Given the description of an element on the screen output the (x, y) to click on. 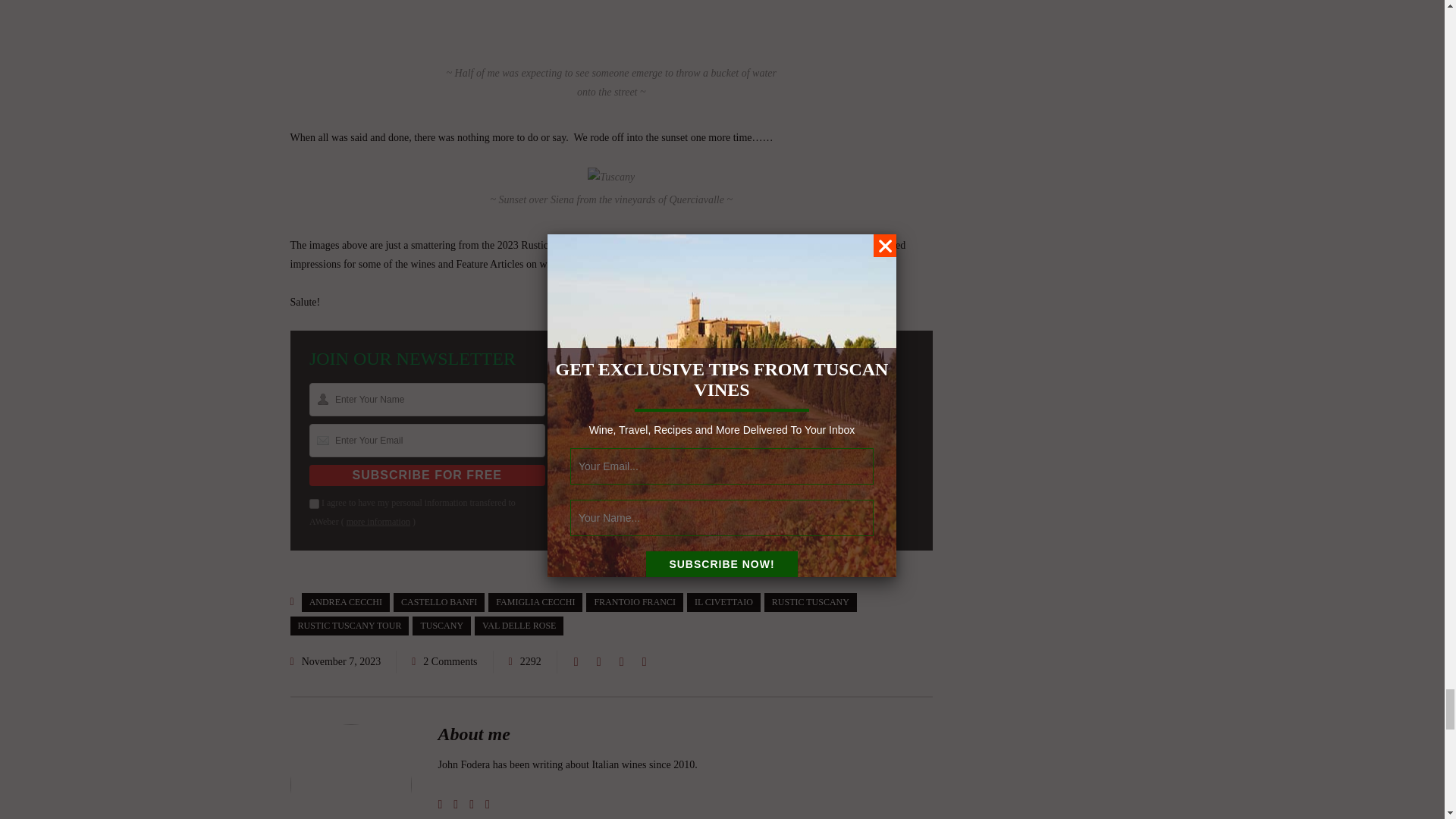
Post views (525, 661)
more information (378, 521)
Pin this (644, 661)
SUBSCRIBE FOR FREE (426, 475)
VAL DELLE ROSE (518, 625)
Post comments (444, 661)
IL CIVETTAIO (723, 601)
RUSTIC TUSCANY TOUR (349, 625)
Share this (576, 661)
SUBSCRIBE FOR FREE (426, 475)
FAMIGLIA CECCHI (534, 601)
CASTELLO BANFI (438, 601)
Share with Google Plus (621, 661)
2 Comments (450, 661)
ANDREA CECCHI (345, 601)
